Given the description of an element on the screen output the (x, y) to click on. 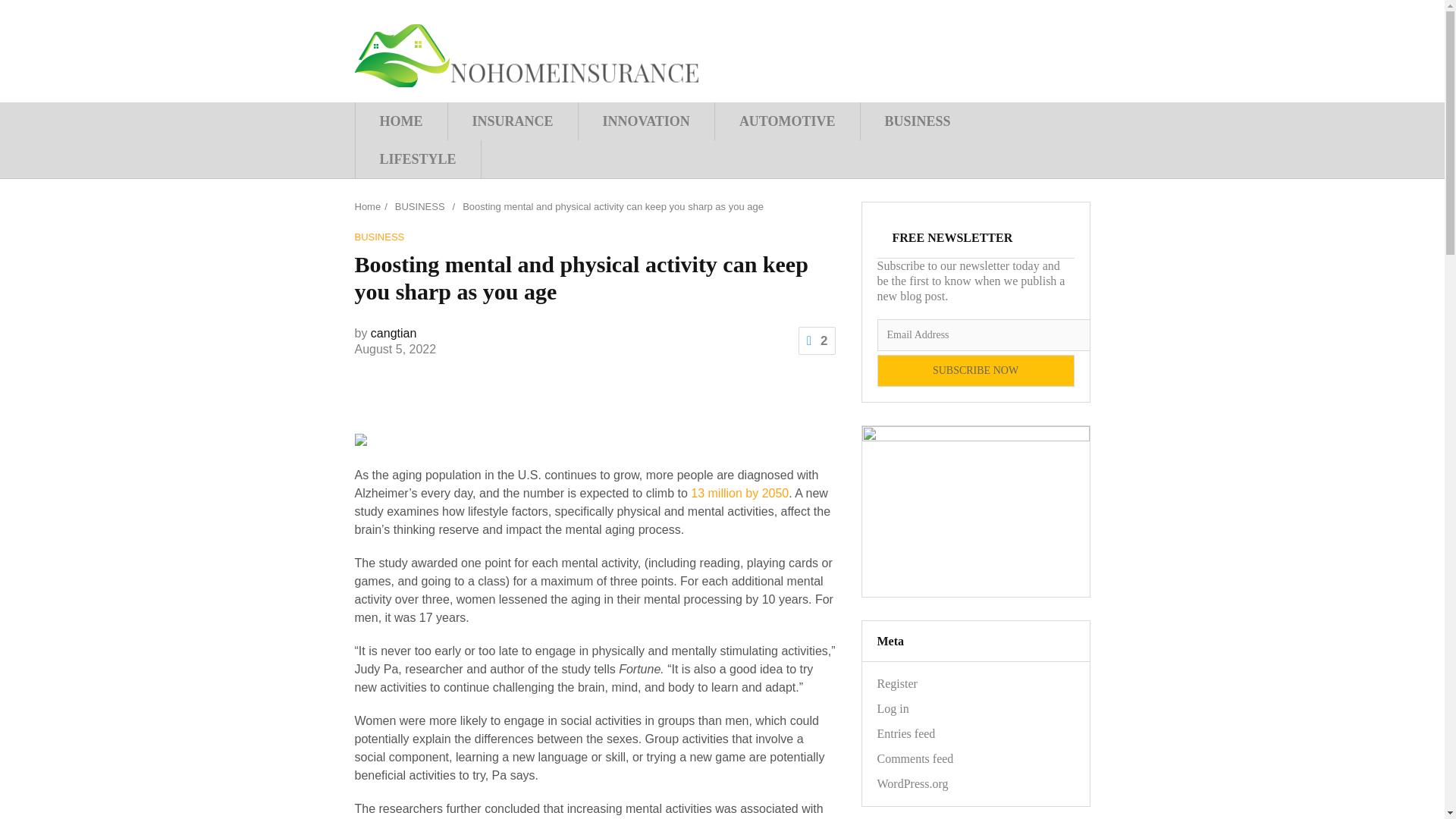
SUBSCRIBE NOW (975, 370)
Log in (892, 707)
Comments feed (914, 758)
SUBSCRIBE NOW (975, 370)
BUSINESS (419, 206)
Home (368, 206)
HOME (400, 121)
WordPress.org (911, 783)
13 million by 2050 (739, 492)
INSURANCE (512, 121)
